Given the description of an element on the screen output the (x, y) to click on. 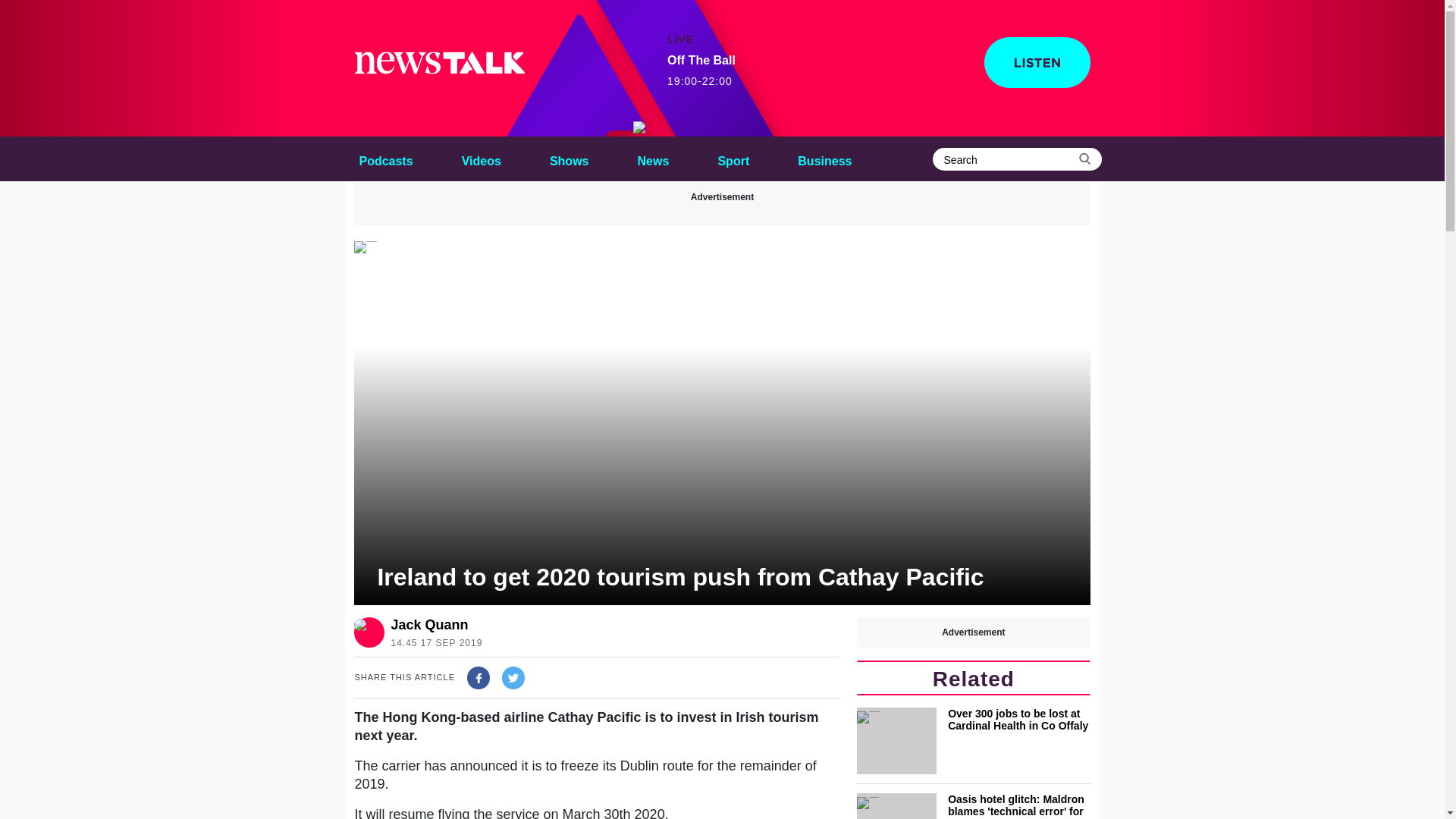
Business (824, 158)
Shows (569, 158)
Sport (733, 158)
News (653, 158)
Off The Ball (641, 127)
Jack Quann (700, 70)
Shows (433, 624)
News (569, 158)
Ireland to get 2020 tourism push from Cathay Pacific (653, 158)
